Given the description of an element on the screen output the (x, y) to click on. 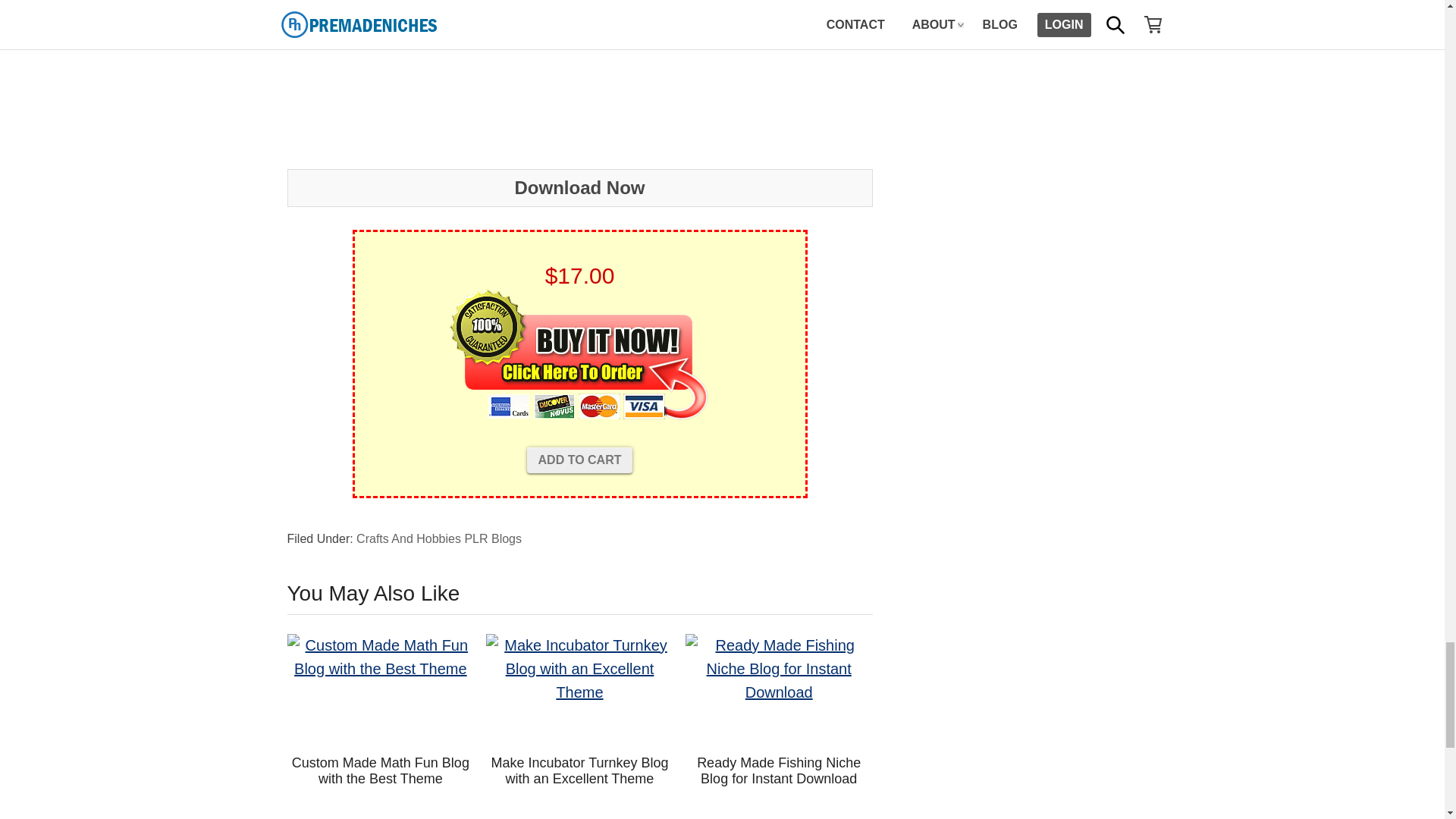
Add to Cart (580, 460)
Ready Made Fishing Niche Blog for Instant Download (778, 689)
Custom Made Math Fun Blog with the Best Theme (380, 689)
Make Incubator Turnkey Blog with an Excellent Theme (579, 689)
